Given the description of an element on the screen output the (x, y) to click on. 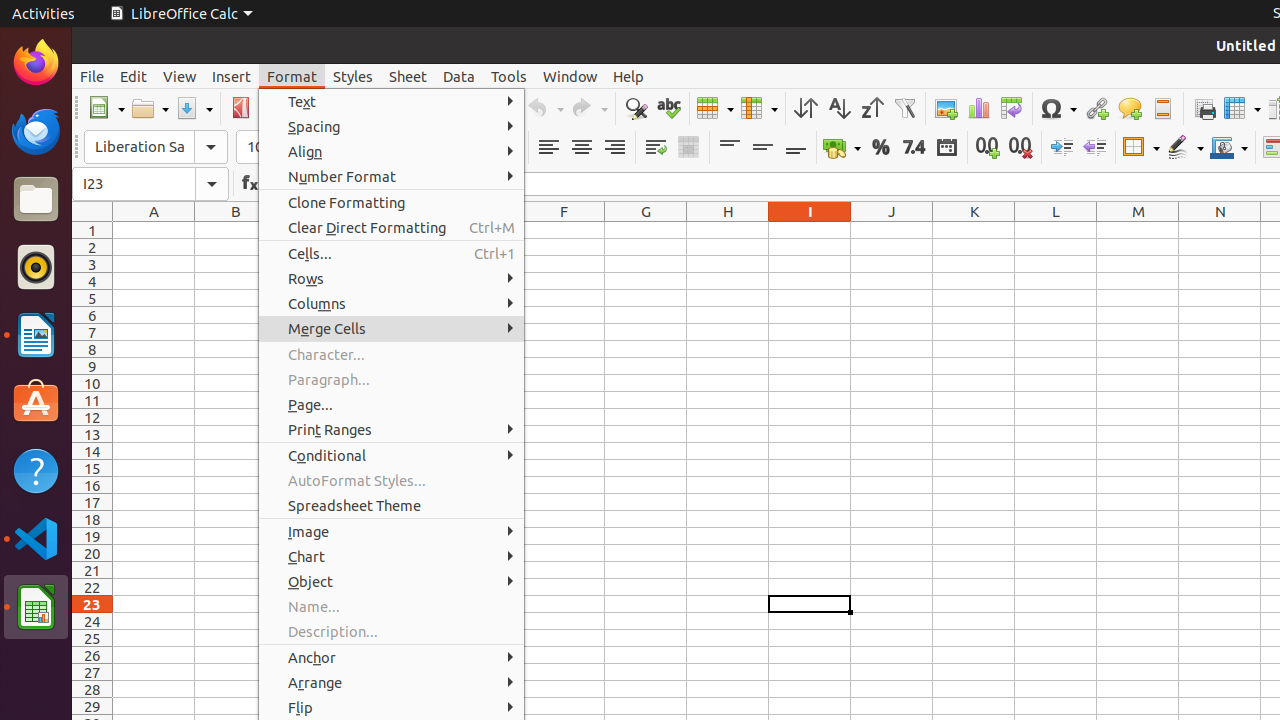
Delete Decimal Place Element type: push-button (1020, 147)
Character... Element type: menu-item (391, 354)
Redo Element type: push-button (589, 108)
M1 Element type: table-cell (1138, 230)
Tools Element type: menu (509, 76)
